Given the description of an element on the screen output the (x, y) to click on. 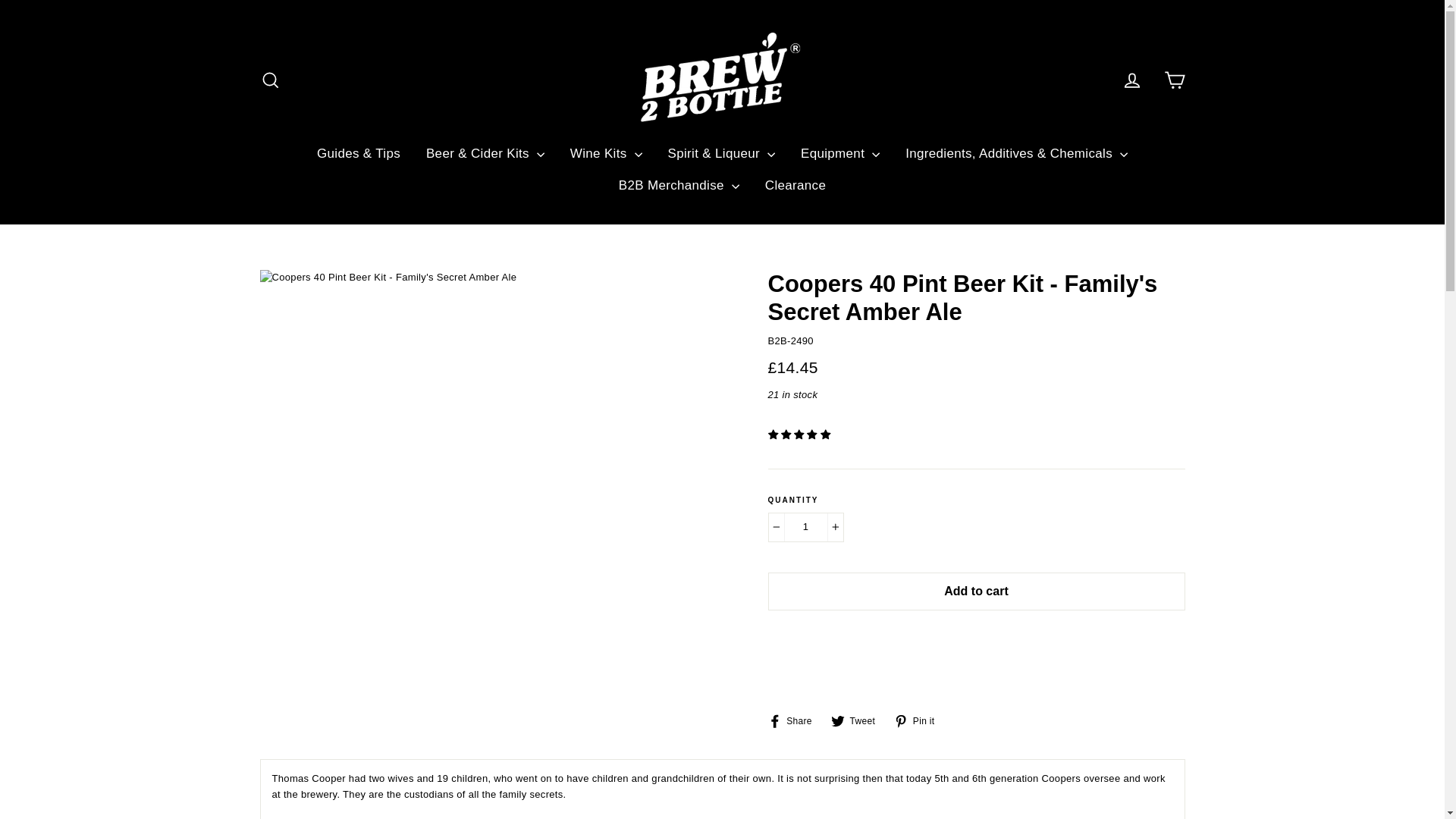
Pin on Pinterest (918, 721)
Share on Facebook (794, 721)
Tweet on Twitter (858, 721)
1 (805, 527)
